Given the description of an element on the screen output the (x, y) to click on. 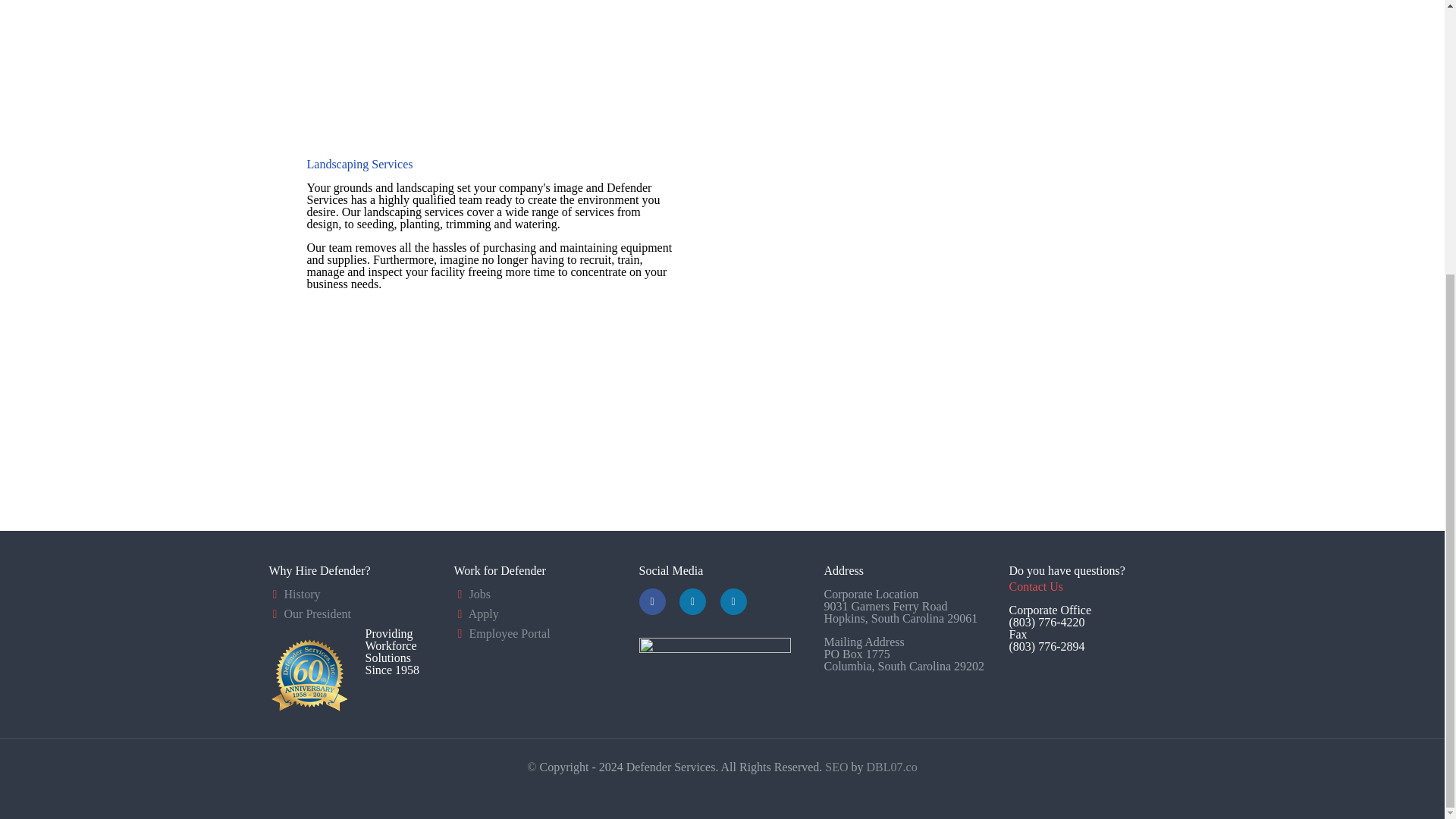
Employee Portal (509, 633)
SEO (837, 766)
Apply (483, 613)
seo company (890, 766)
Our President (316, 613)
Jobs (478, 594)
DBL07.co (890, 766)
History (301, 594)
seo company (837, 766)
